Given the description of an element on the screen output the (x, y) to click on. 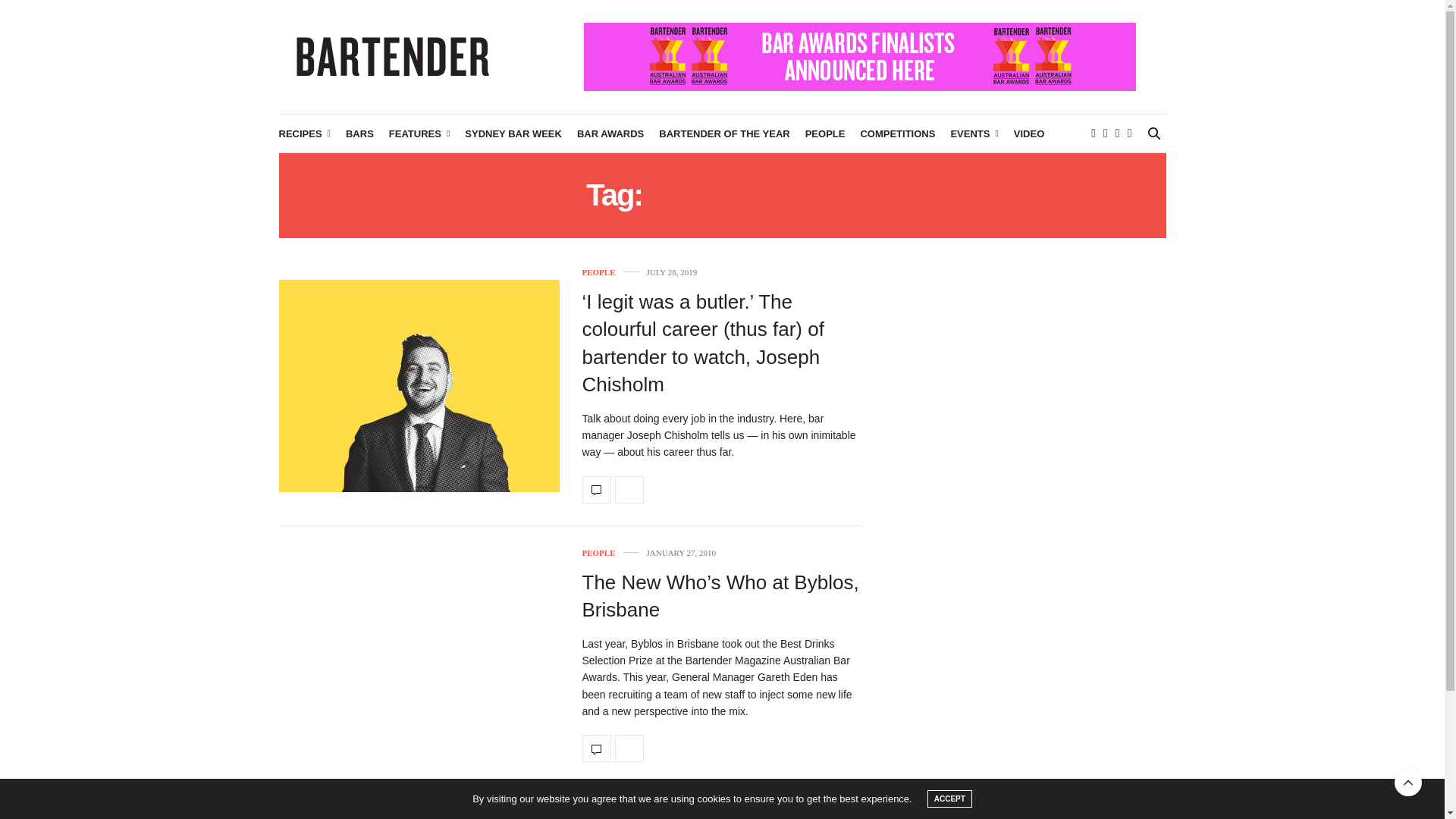
FEATURES (418, 133)
Scroll To Top (1408, 782)
RECIPES (304, 133)
australianbartender.com.au (393, 56)
